Given the description of an element on the screen output the (x, y) to click on. 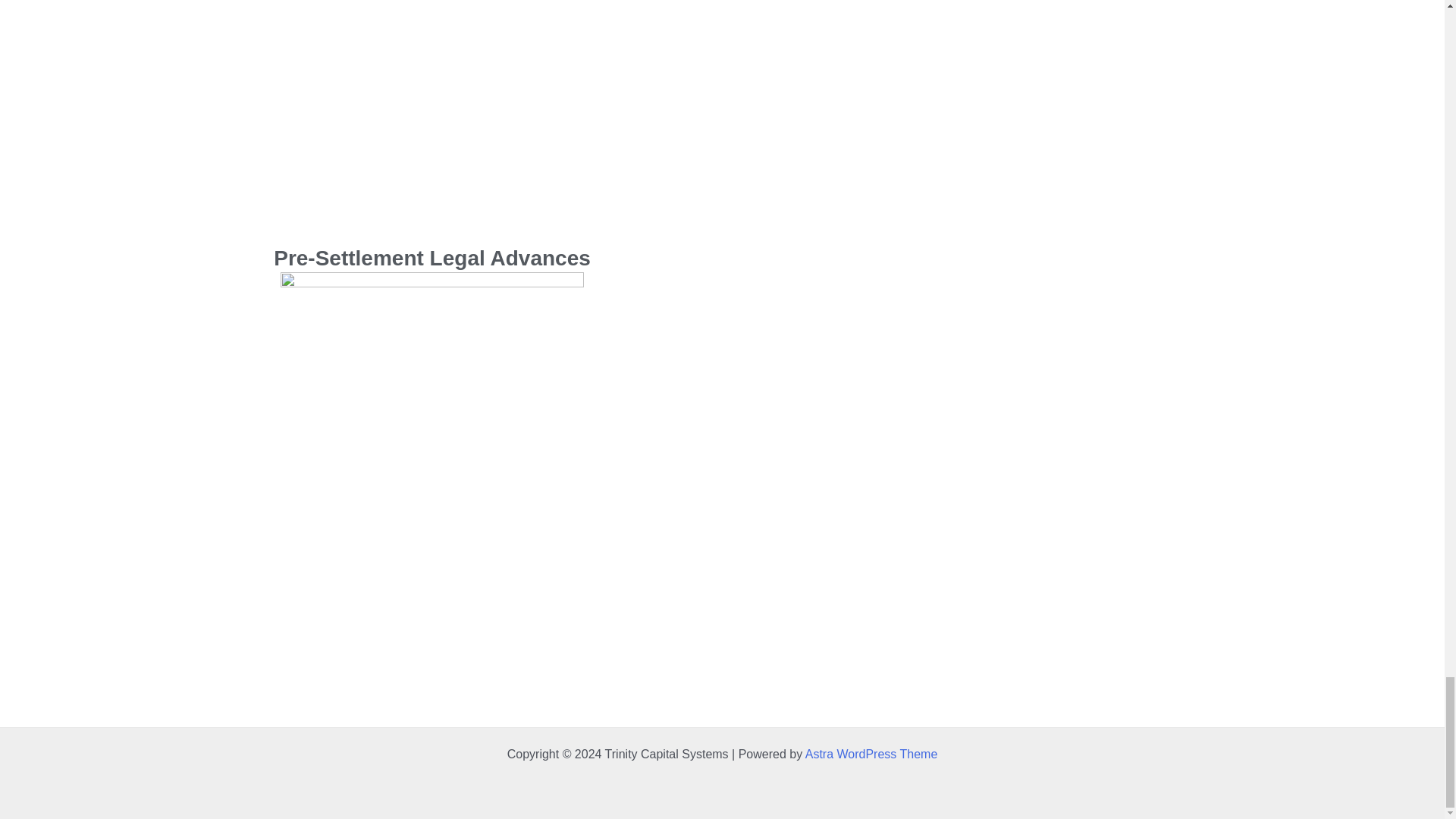
Astra WordPress Theme (871, 753)
